Given the description of an element on the screen output the (x, y) to click on. 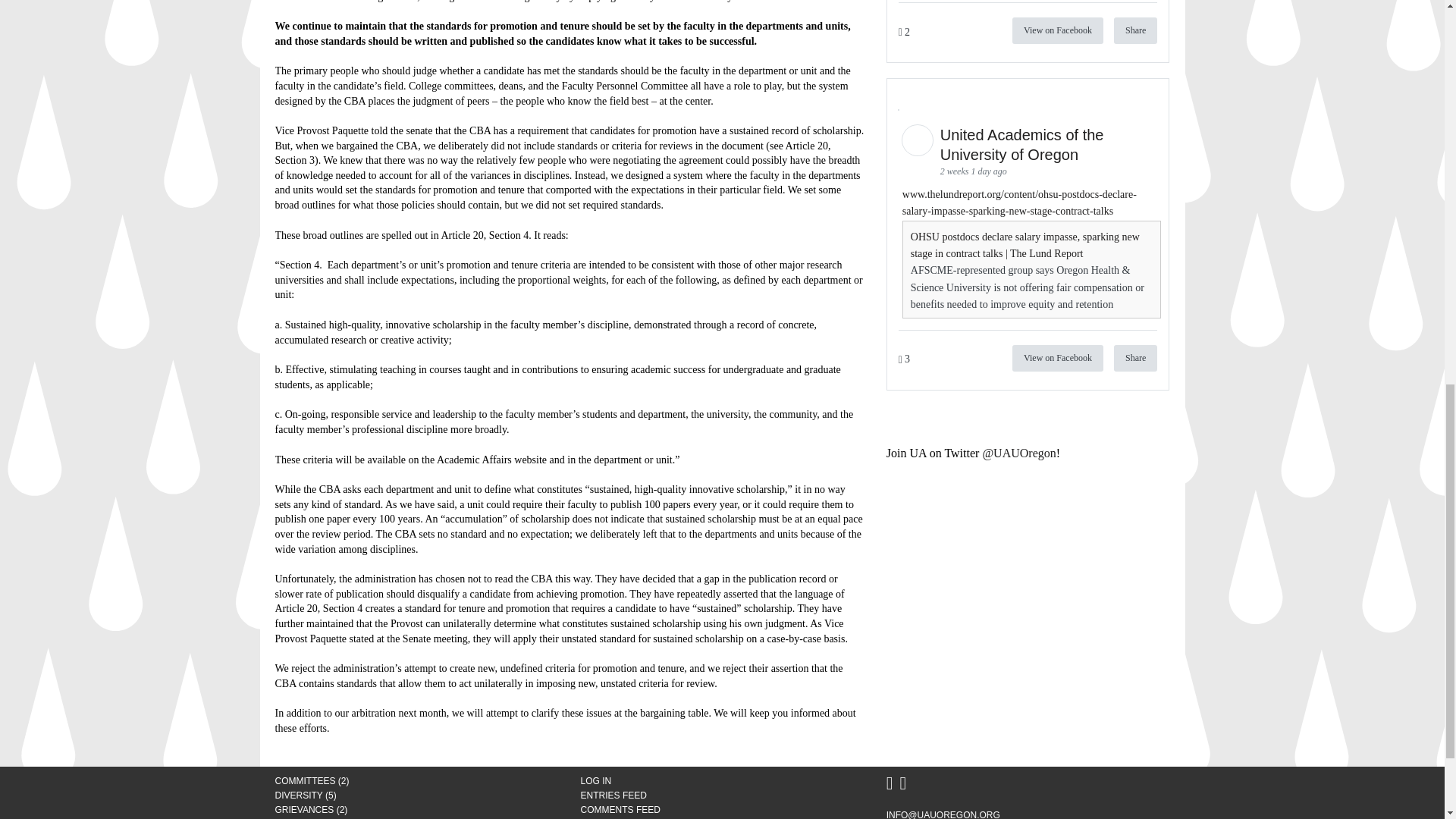
Share (1135, 30)
View on Facebook (1057, 30)
